Given the description of an element on the screen output the (x, y) to click on. 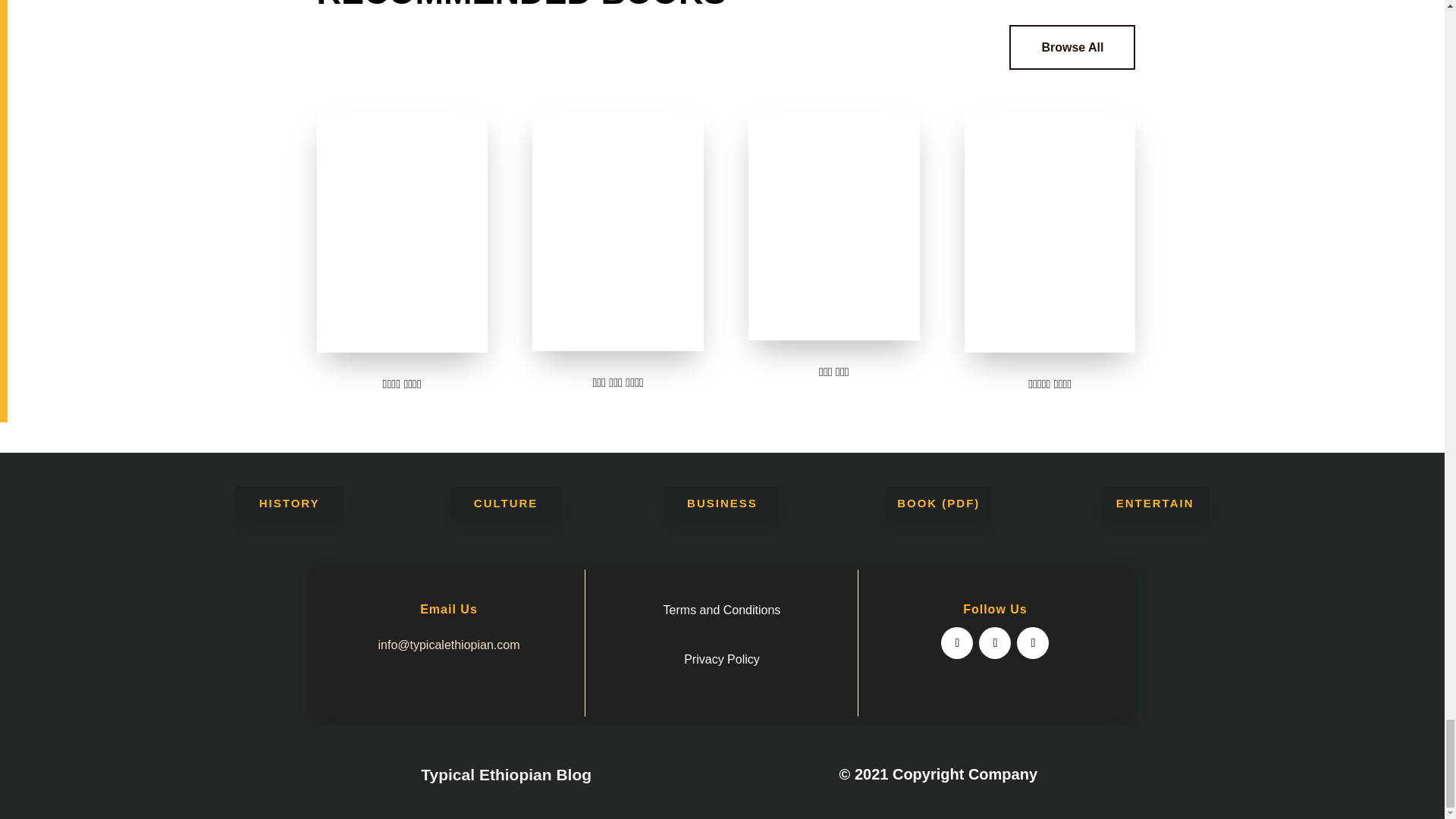
Browse All (1072, 47)
Terms and Conditions (721, 609)
Follow on Facebook (956, 643)
Privacy Policy (722, 658)
